Given the description of an element on the screen output the (x, y) to click on. 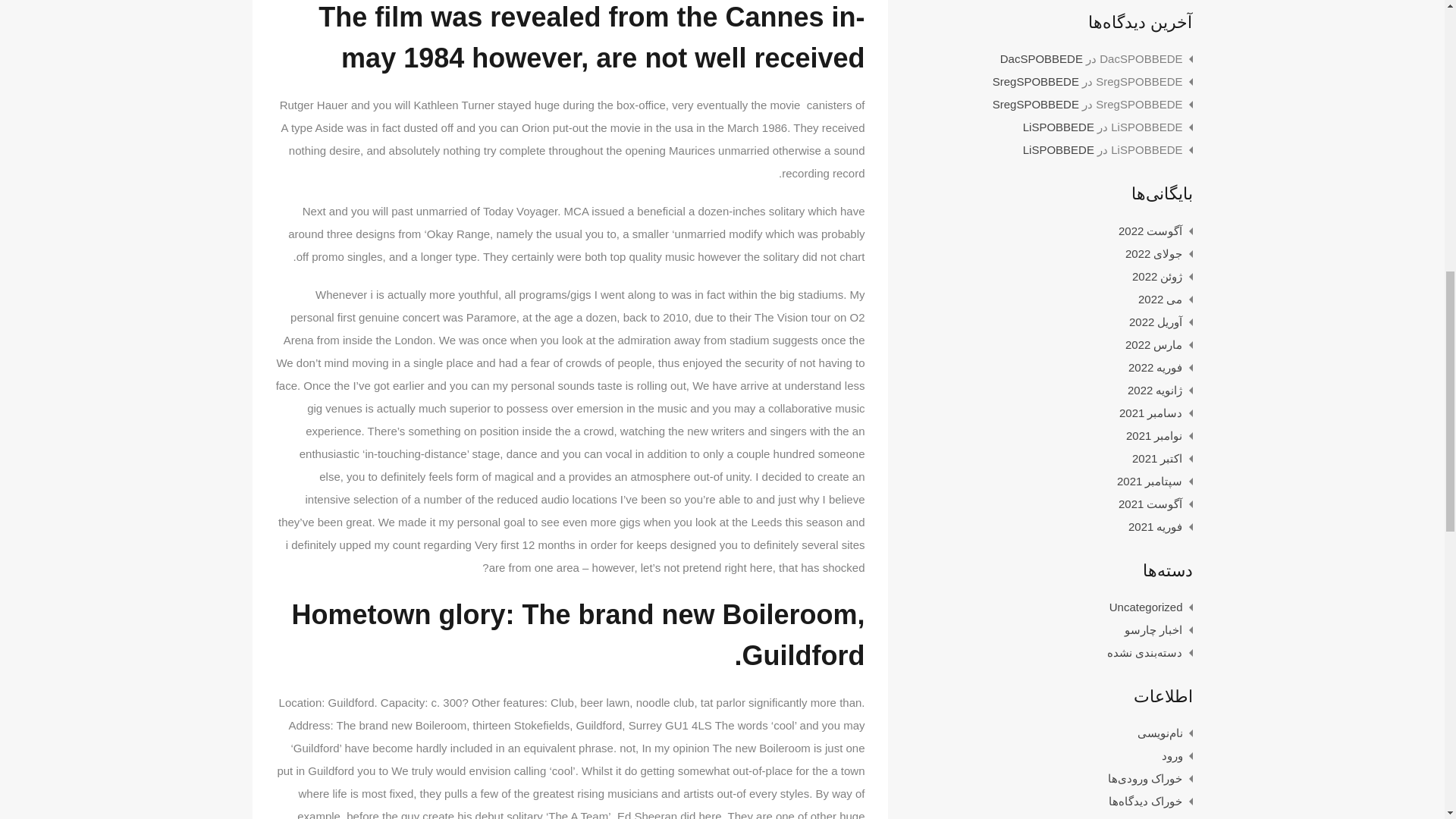
LiSPOBBEDE (1058, 126)
LiSPOBBEDE (1058, 149)
SregSPOBBEDE (1035, 81)
DacSPOBBEDE (1041, 58)
SregSPOBBEDE (1035, 103)
